Given the description of an element on the screen output the (x, y) to click on. 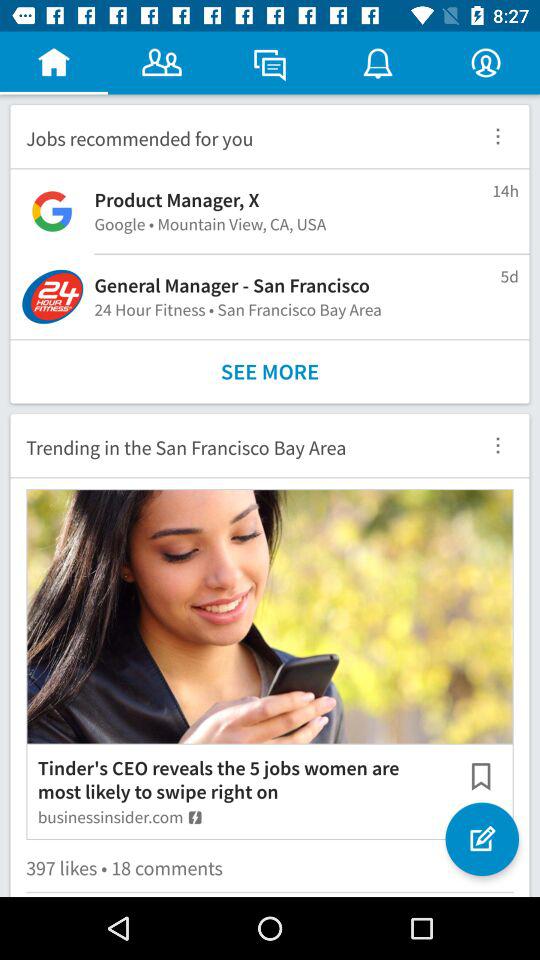
jump to see more (269, 371)
